Given the description of an element on the screen output the (x, y) to click on. 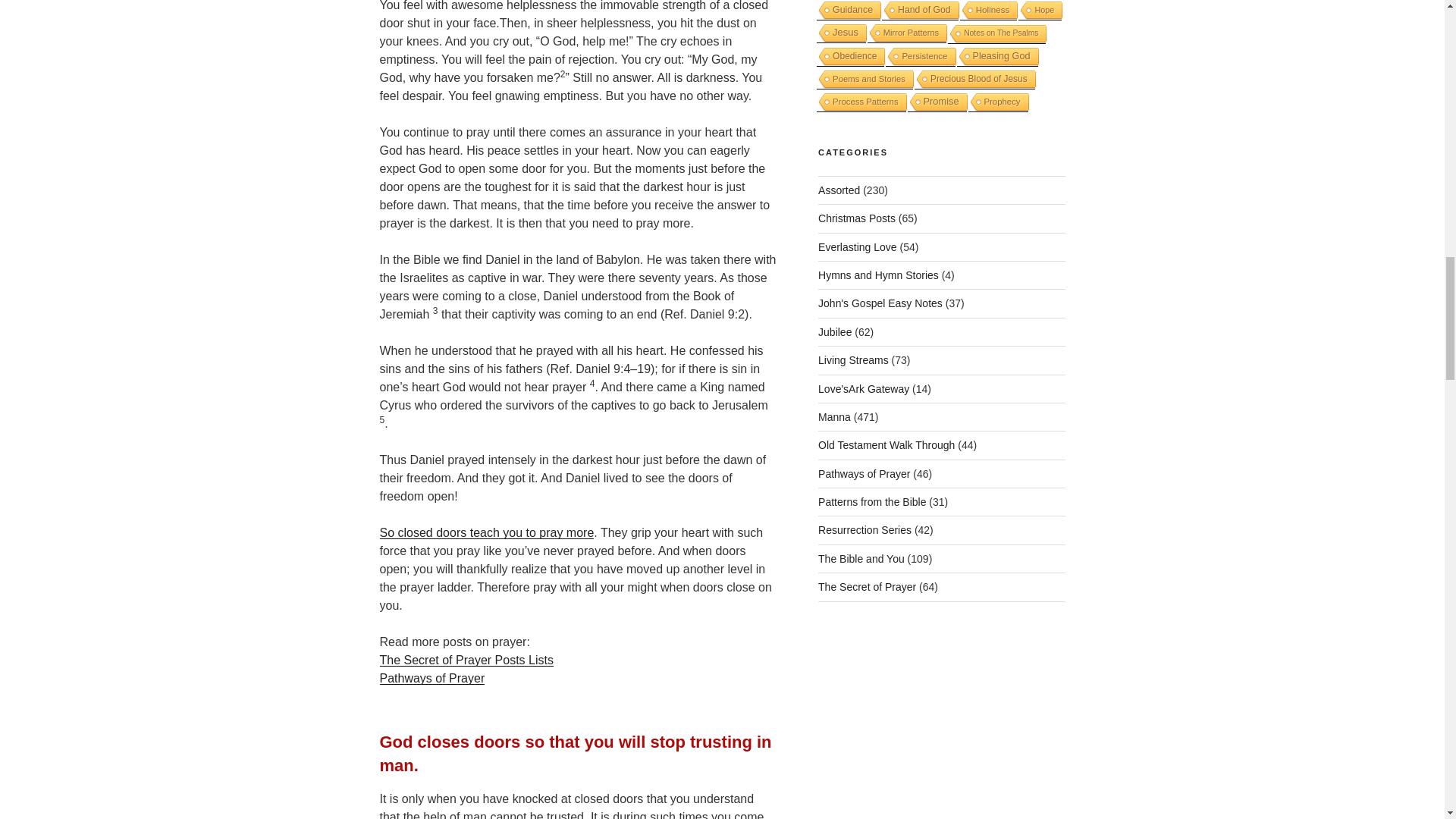
Fundamental Truths from the Bible (861, 558)
The Secret of Prayer Posts Lists (465, 659)
Pathways of Prayer (431, 677)
